Given the description of an element on the screen output the (x, y) to click on. 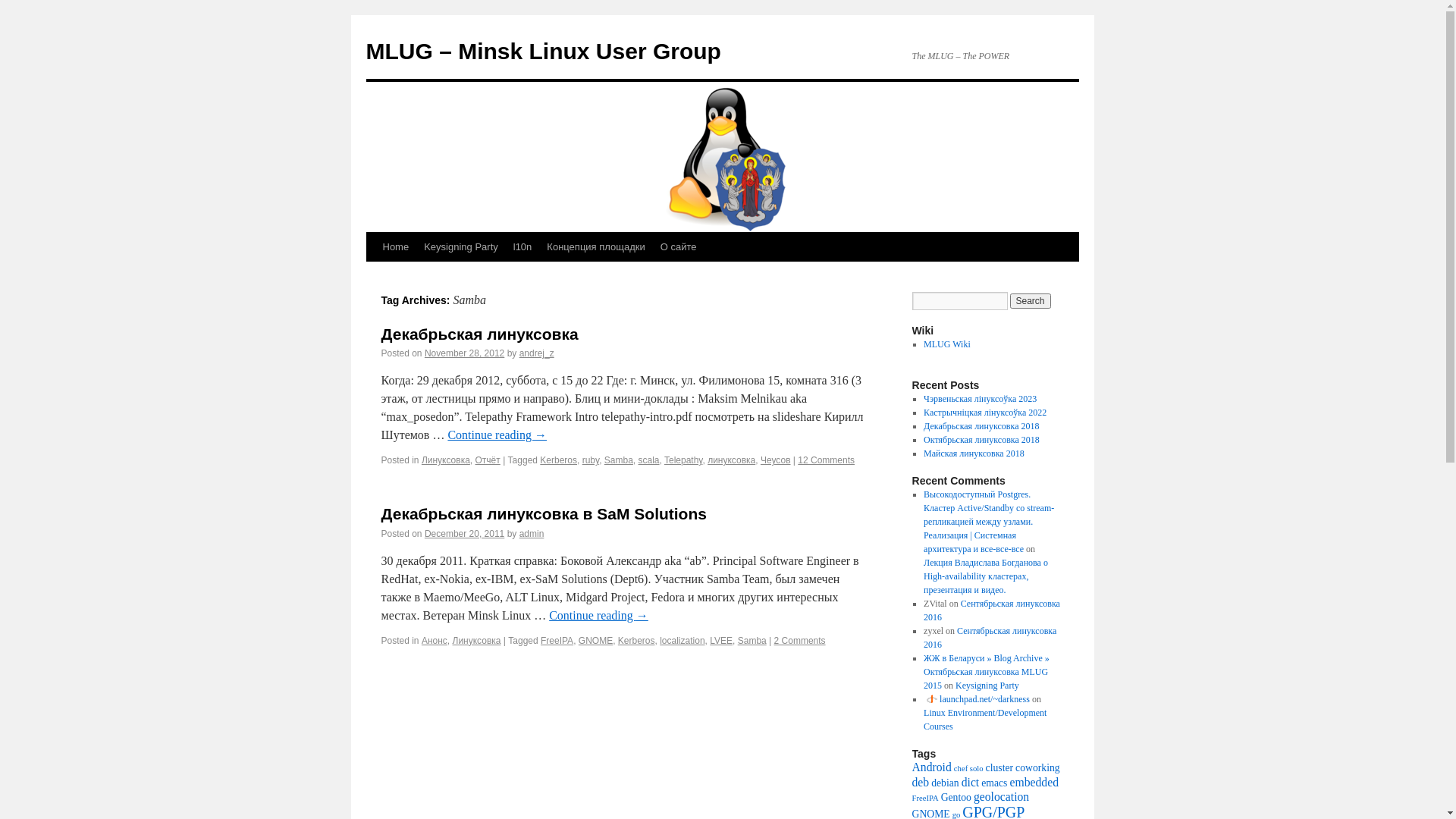
cluster Element type: text (999, 767)
Telepathy Element type: text (683, 460)
andrej_z Element type: text (536, 353)
Keysigning Party Element type: text (987, 685)
ruby Element type: text (590, 460)
launchpad.net/~darkness Element type: text (976, 698)
dict Element type: text (970, 781)
December 20, 2011 Element type: text (464, 533)
debian Element type: text (945, 782)
LVEE Element type: text (720, 640)
GNOME Element type: text (595, 640)
Samba Element type: text (618, 460)
Samba Element type: text (751, 640)
Search Element type: text (1030, 300)
Kerberos Element type: text (558, 460)
2 Comments Element type: text (799, 640)
MLUG Wiki Element type: text (946, 343)
admin Element type: text (531, 533)
Linux Environment/Development Courses Element type: text (984, 719)
Android Element type: text (930, 766)
chef solo Element type: text (968, 768)
emacs Element type: text (994, 782)
embedded Element type: text (1033, 781)
geolocation Element type: text (1001, 796)
Gentoo Element type: text (956, 797)
November 28, 2012 Element type: text (464, 353)
l10n Element type: text (522, 246)
FreeIPA Element type: text (924, 797)
localization Element type: text (681, 640)
deb Element type: text (919, 781)
coworking Element type: text (1037, 767)
scala Element type: text (648, 460)
Home Element type: text (395, 246)
12 Comments Element type: text (825, 460)
FreeIPA Element type: text (556, 640)
Kerberos Element type: text (636, 640)
Keysigning Party Element type: text (460, 246)
